Given the description of an element on the screen output the (x, y) to click on. 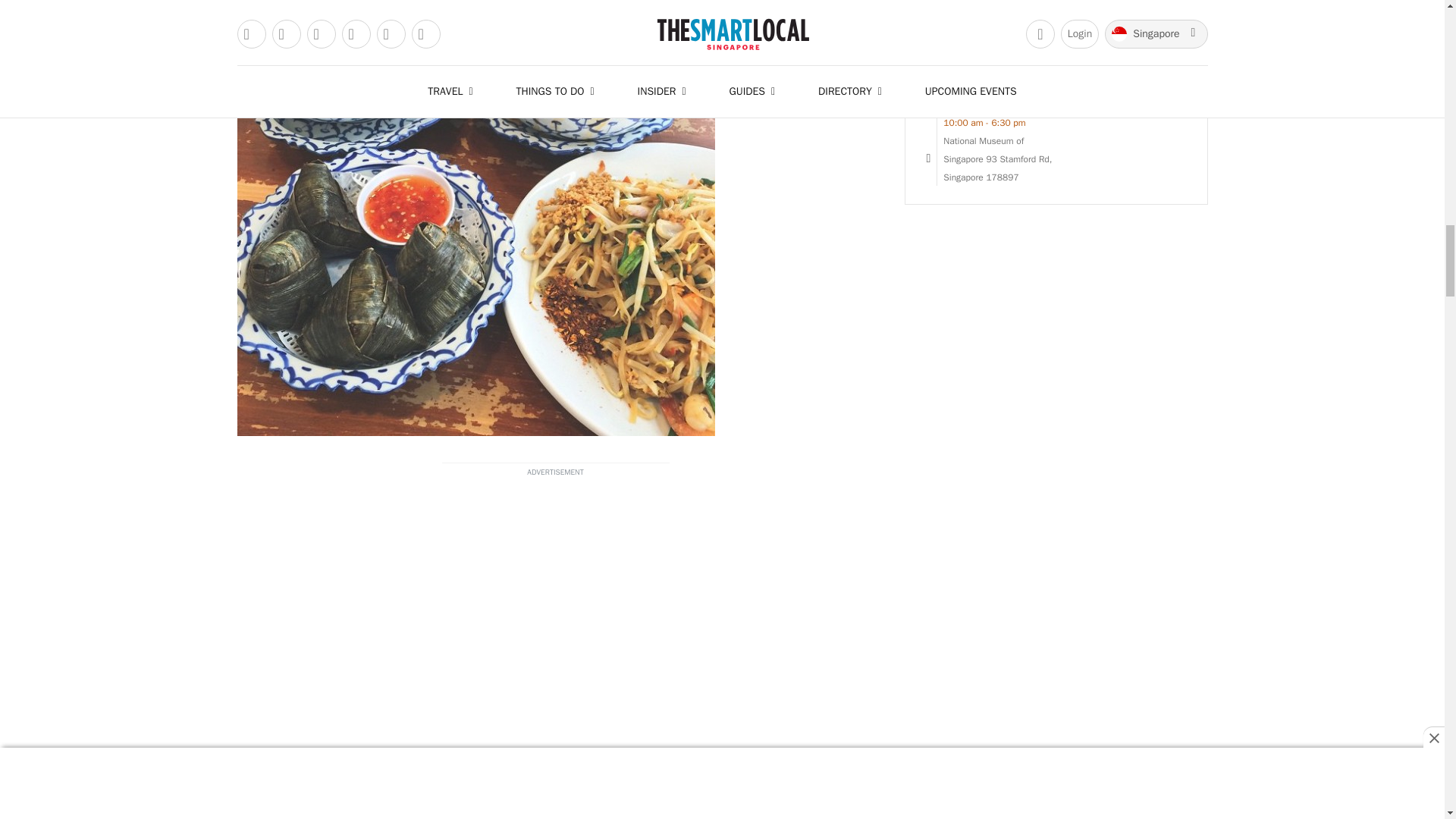
3rd party ad content (554, 650)
